Given the description of an element on the screen output the (x, y) to click on. 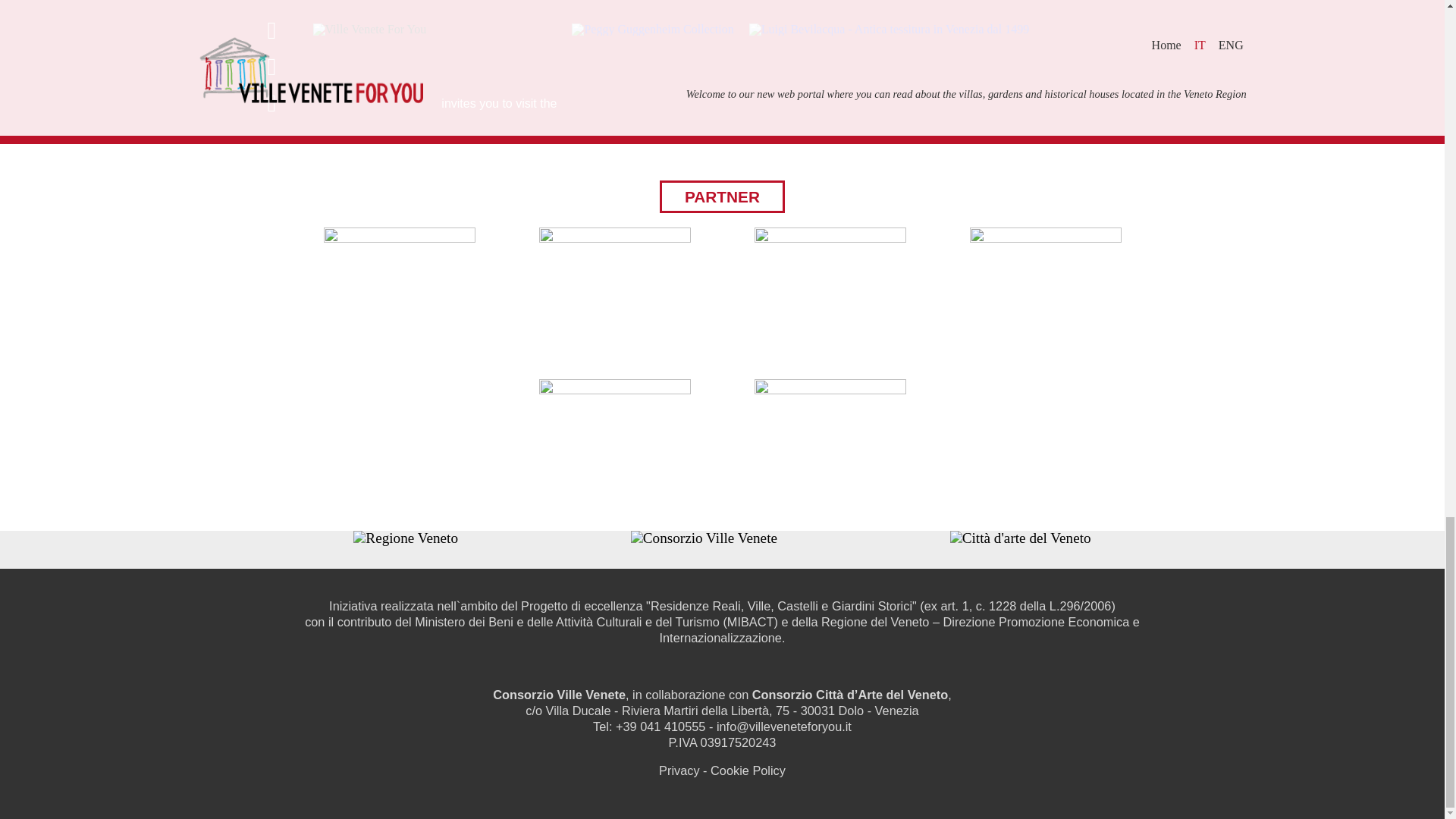
Privacy (678, 770)
Cookie Policy (748, 770)
PARTNER (721, 196)
